Given the description of an element on the screen output the (x, y) to click on. 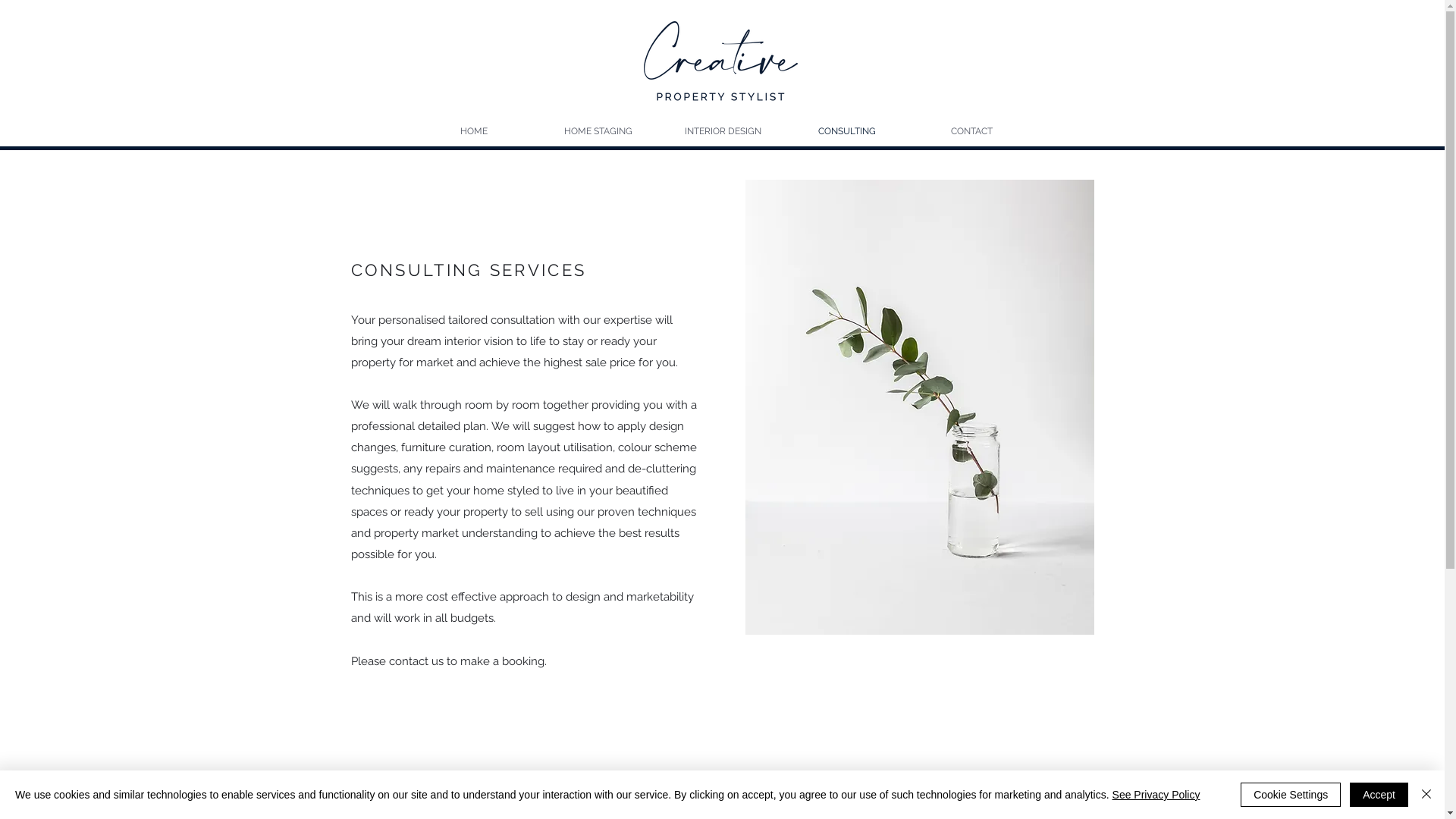
CONSULTING Element type: text (846, 130)
CONTACT Element type: text (970, 130)
See Privacy Policy Element type: text (1156, 794)
HOME STAGING Element type: text (597, 130)
Cookie Settings Element type: text (1290, 794)
INTERIOR DESIGN Element type: text (721, 130)
HOME Element type: text (473, 130)
Accept Element type: text (1378, 794)
